Given the description of an element on the screen output the (x, y) to click on. 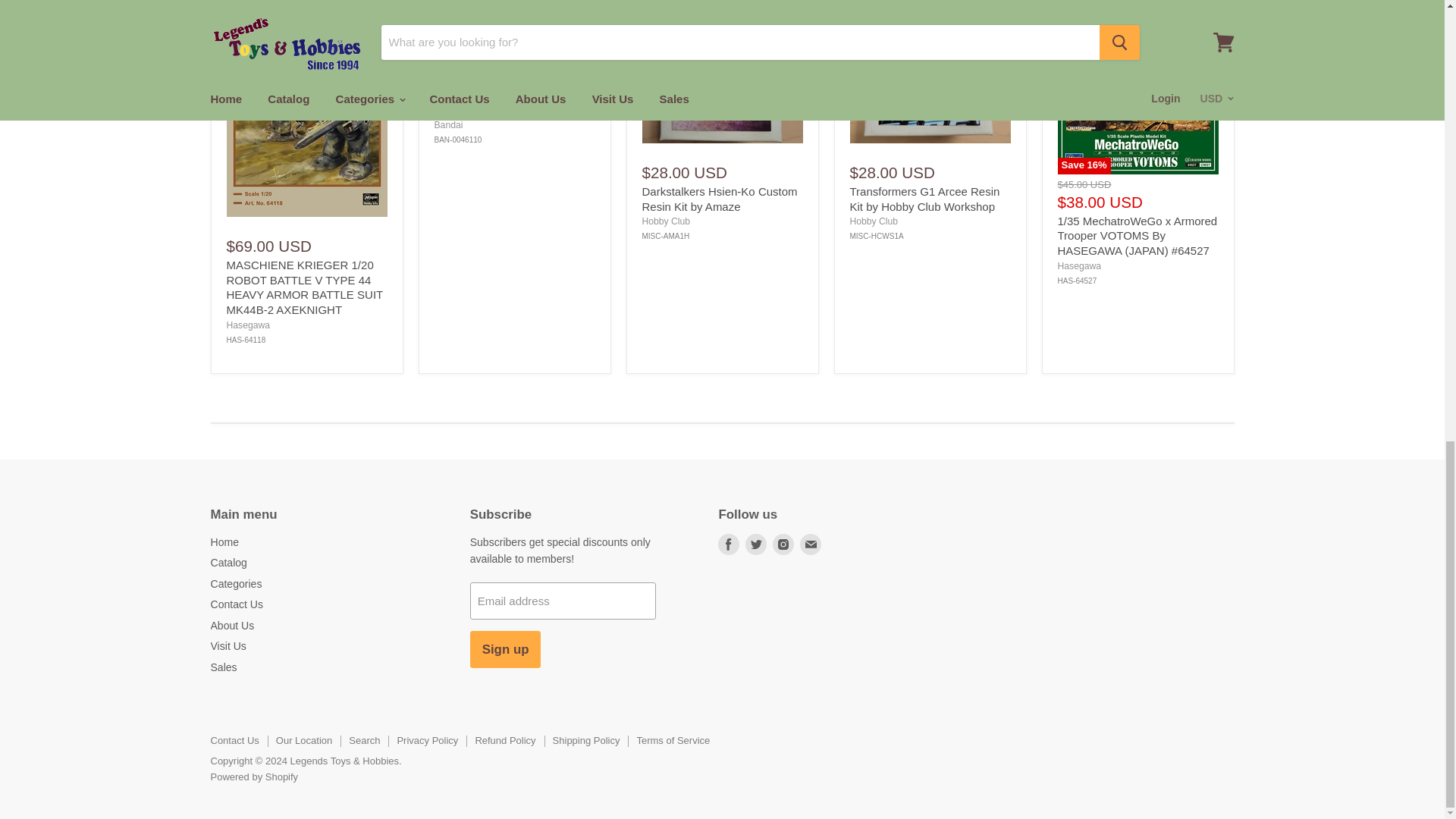
Instagram (783, 543)
Twitter (756, 543)
Facebook (728, 543)
E-mail (810, 543)
